Given the description of an element on the screen output the (x, y) to click on. 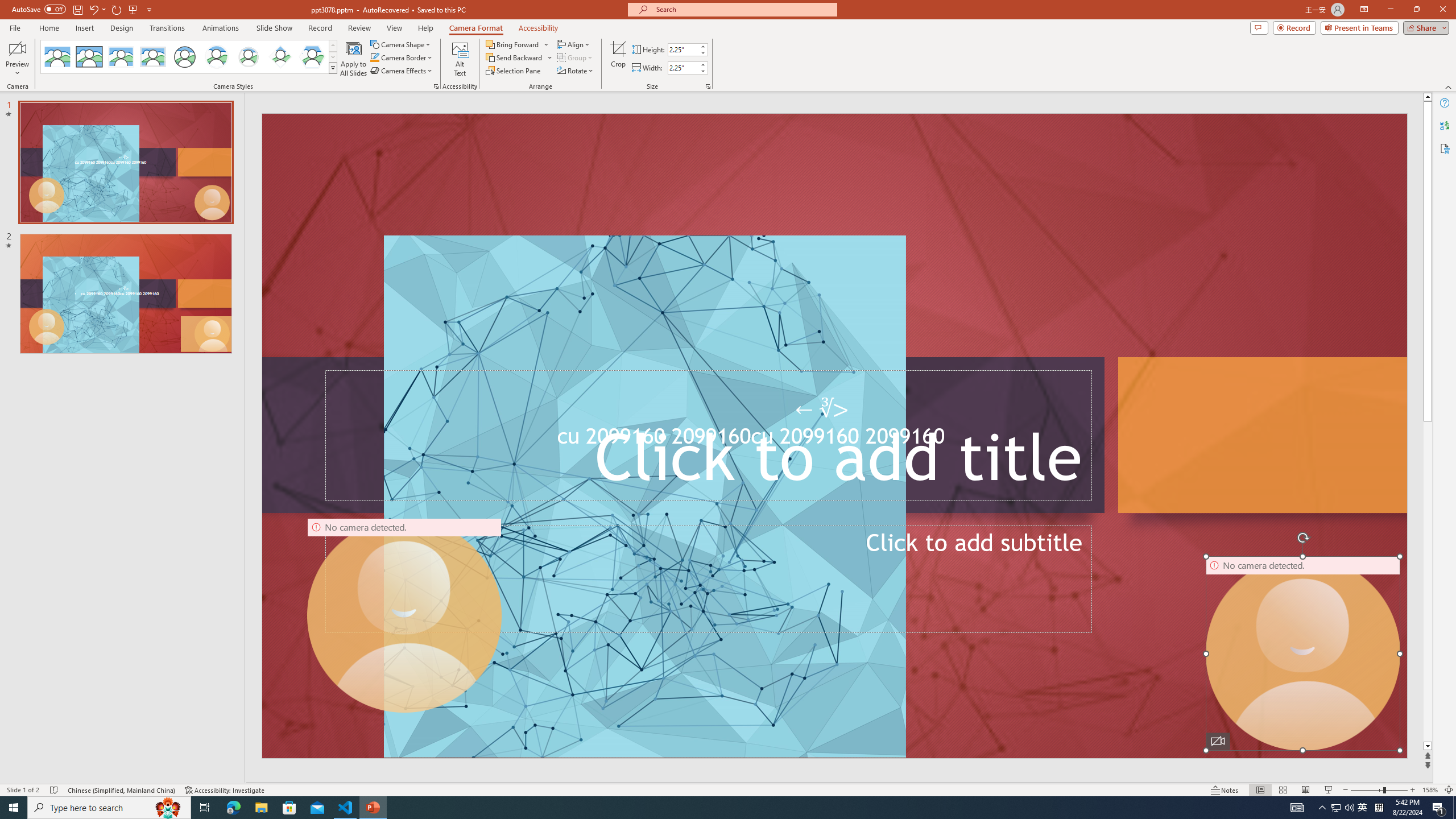
Zoom 158% (1430, 790)
Align (574, 44)
Send Backward (518, 56)
Camera Border (401, 56)
Simple Frame Rectangle (88, 56)
Subtitle TextBox (708, 579)
